Given the description of an element on the screen output the (x, y) to click on. 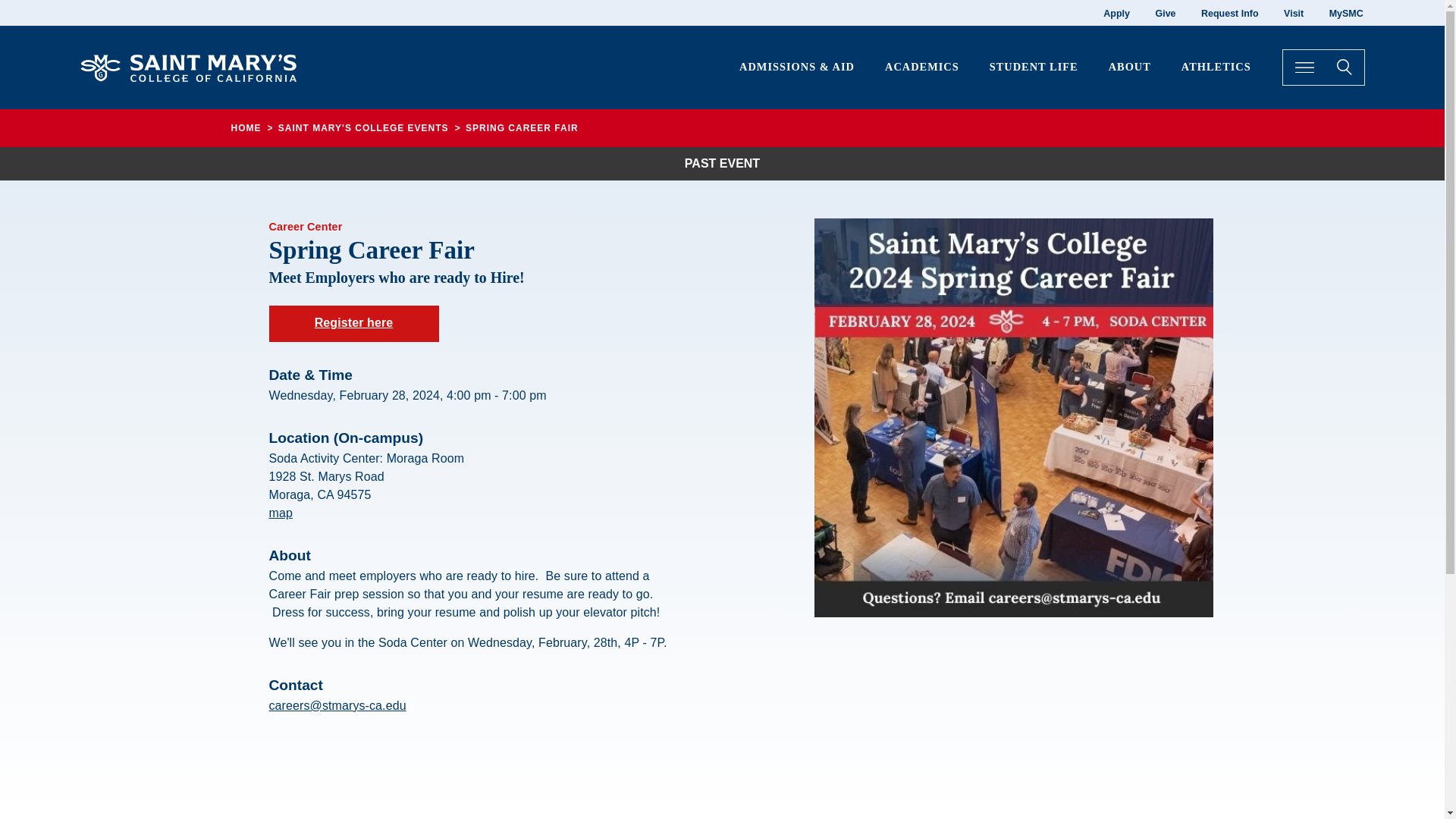
Request Info (1230, 13)
ACADEMICS (922, 66)
Visit (1293, 13)
Home (194, 65)
Give (1164, 13)
MySMC (1345, 13)
Apply (1116, 13)
